Given the description of an element on the screen output the (x, y) to click on. 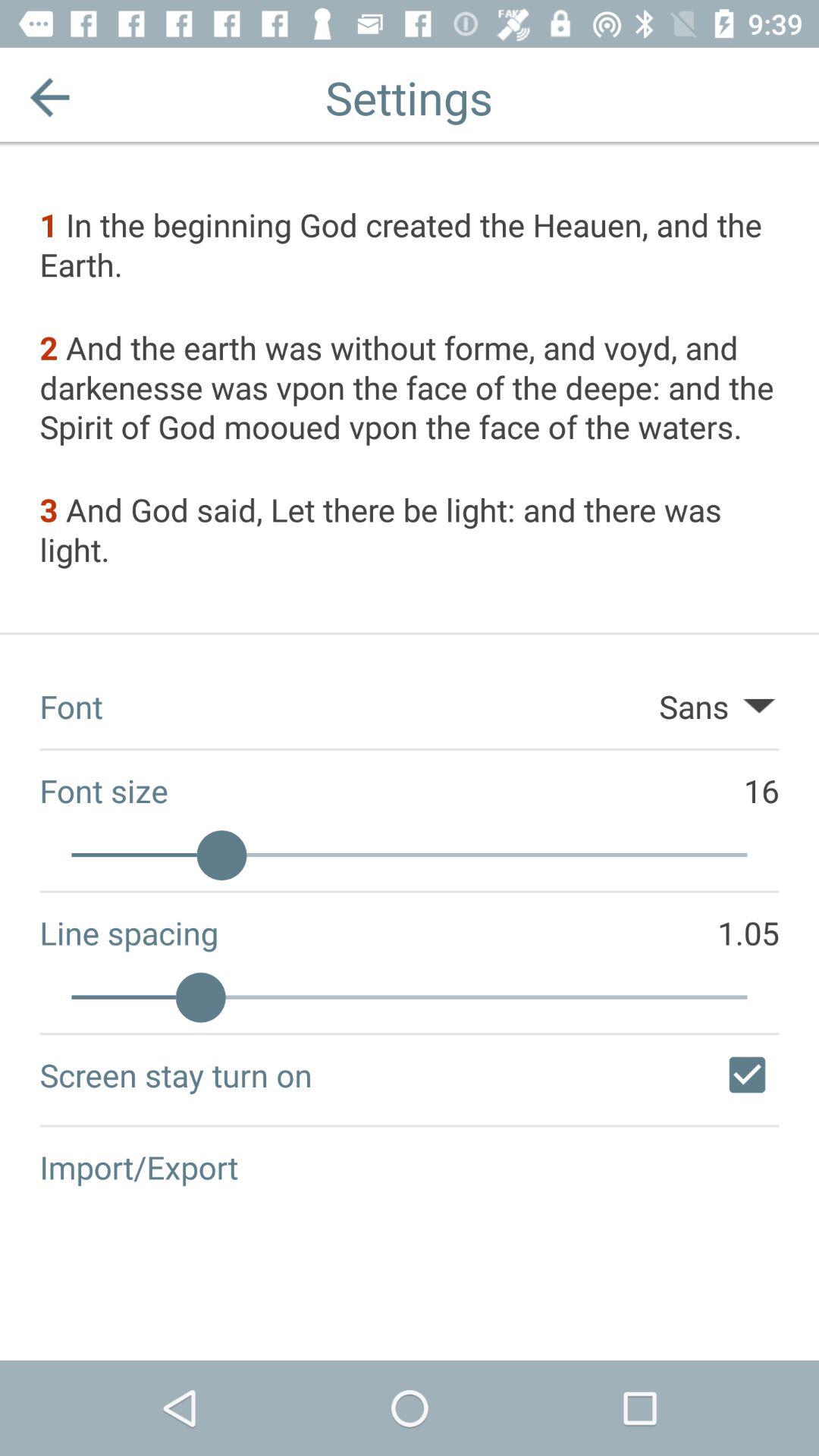
press the app to the left of the settings item (49, 97)
